Given the description of an element on the screen output the (x, y) to click on. 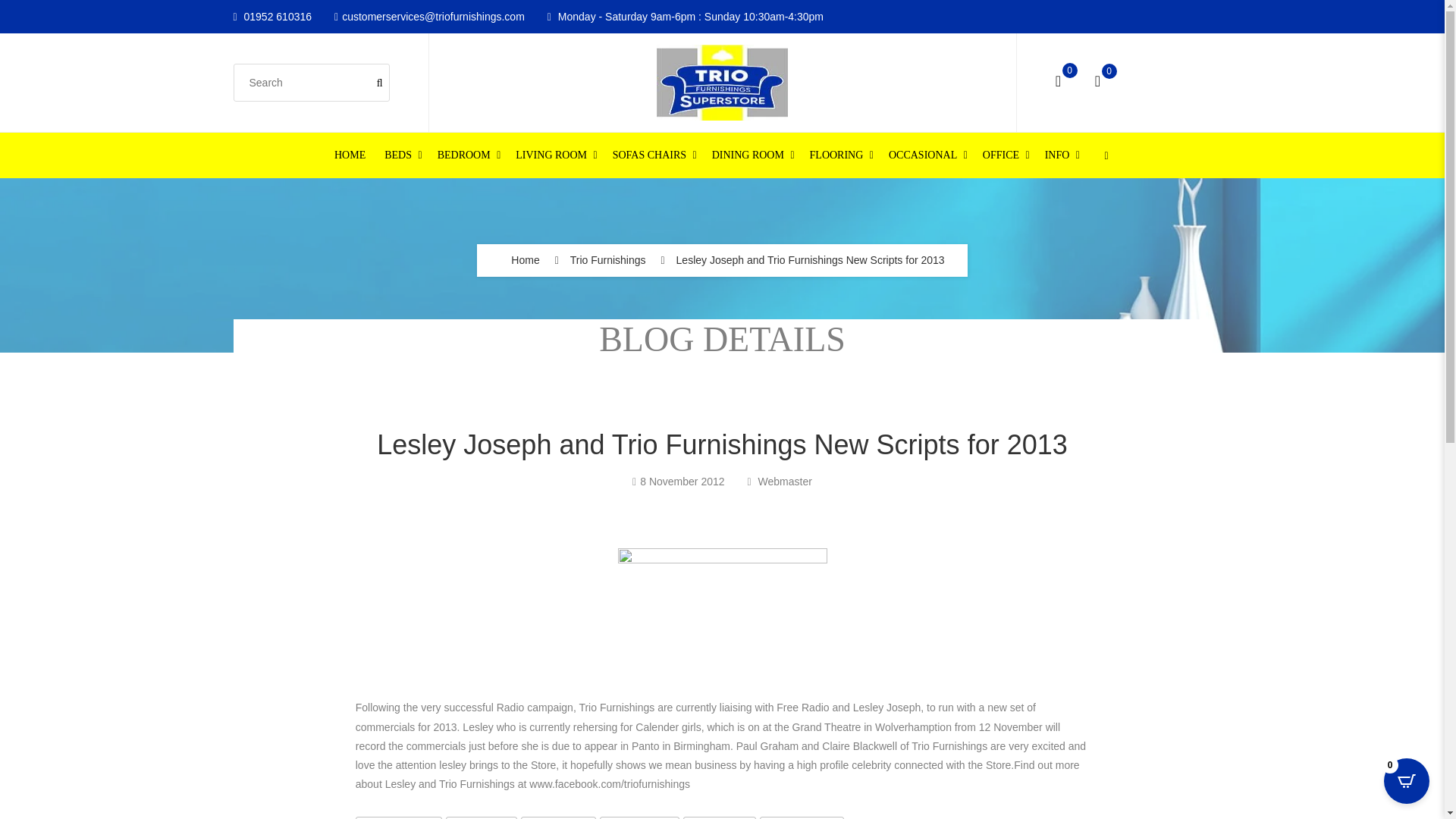
Trio Furnishings (608, 259)
lesley joseph xmas (722, 617)
Wishlist (1097, 82)
